Given the description of an element on the screen output the (x, y) to click on. 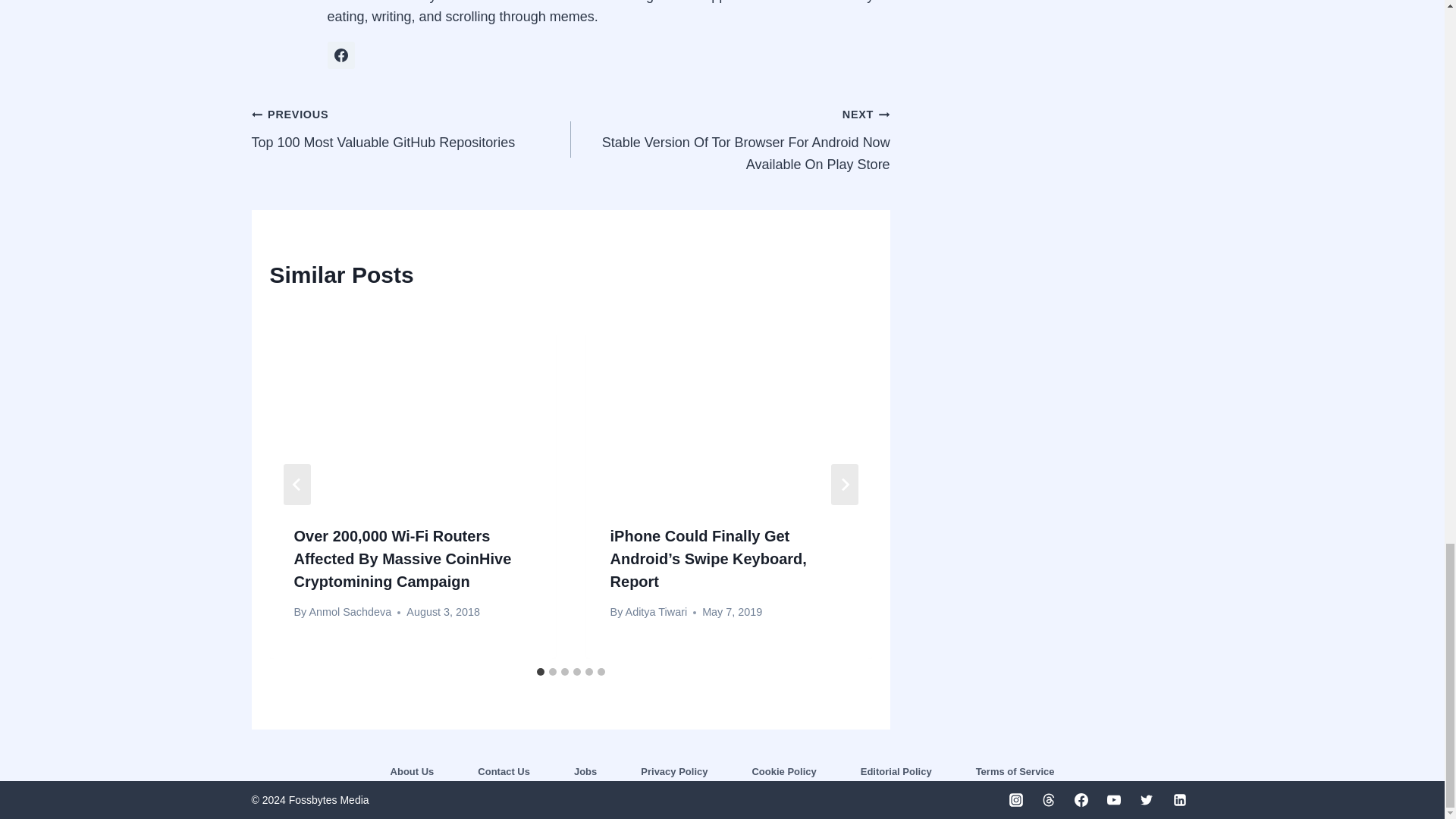
Aditya Tiwari (410, 128)
Follow Anmol Sachdeva on Facebook (656, 612)
Anmol Sachdeva (341, 54)
